Given the description of an element on the screen output the (x, y) to click on. 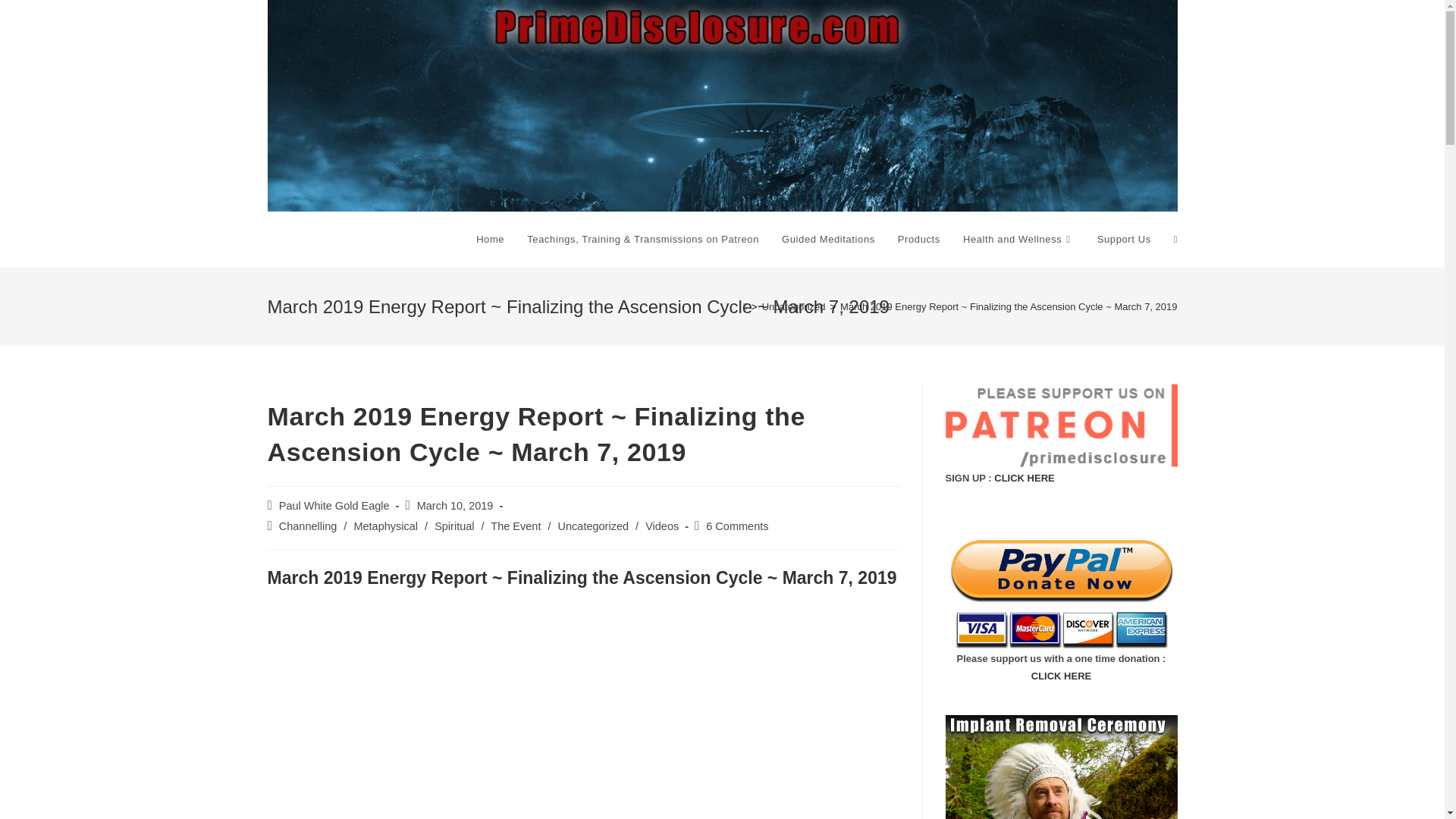
Channelling (308, 526)
6 Comments (737, 526)
Support Us (1123, 239)
Health and Wellness (1019, 239)
Home (489, 239)
Videos (661, 526)
Products (919, 239)
Posts by Paul White Gold Eagle (334, 505)
Paul White Gold Eagle (334, 505)
Spiritual (453, 526)
